Given the description of an element on the screen output the (x, y) to click on. 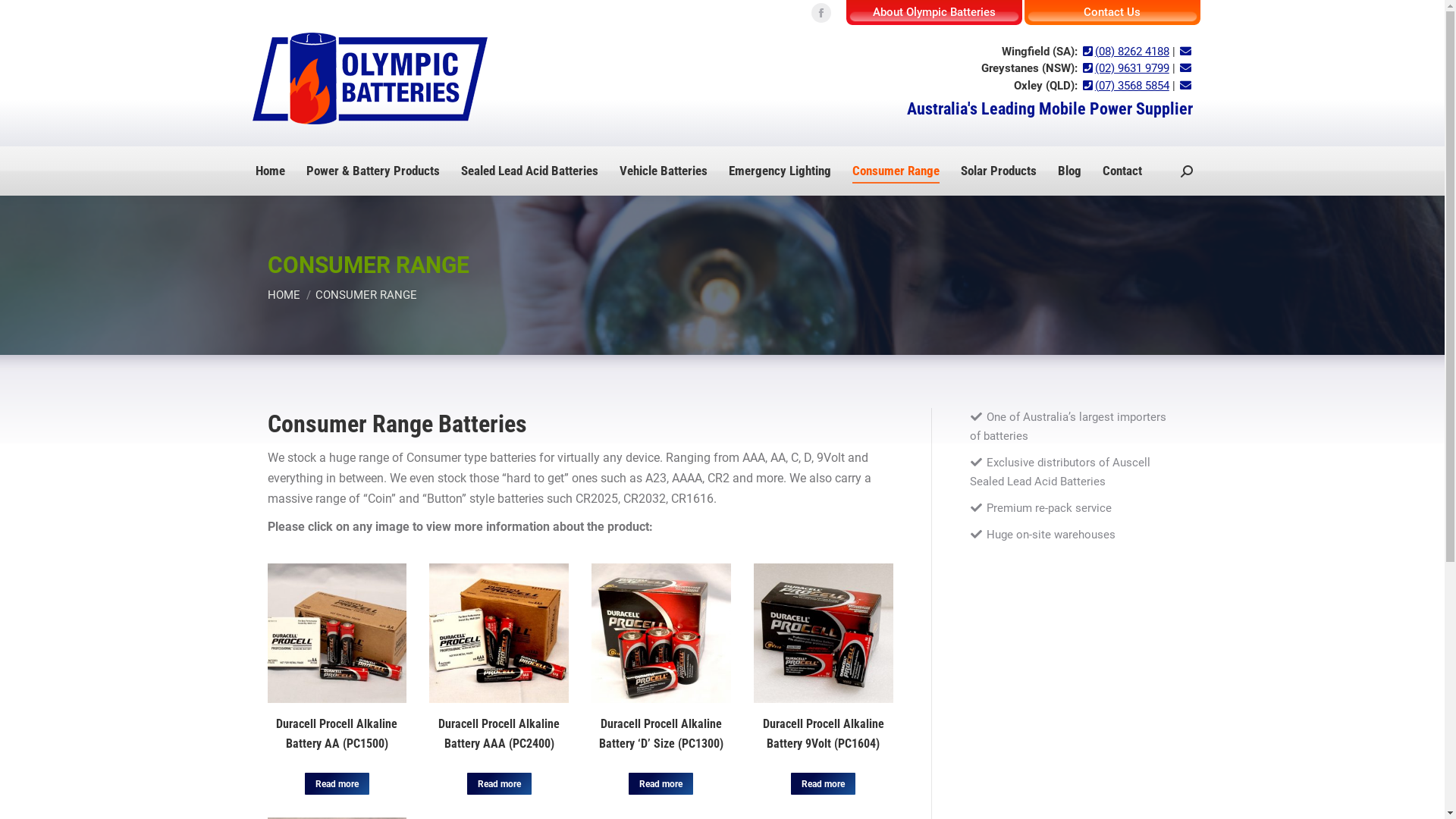
Read more Element type: text (822, 783)
About Olympic Batteries Element type: text (934, 12)
Duracell Procell Alkaline Battery 9Volt (PC1604) Element type: text (823, 733)
(07) 3568 5854 Element type: text (1124, 85)
Solar Products Element type: text (997, 171)
Contact Element type: text (1122, 171)
Power & Battery Products Element type: text (372, 171)
Blog Element type: text (1068, 171)
(08) 8262 4188 Element type: text (1124, 51)
Duracell Procell Alkaline Battery AAA (PC2400) Element type: text (498, 733)
Read more Element type: text (499, 783)
Facebook page opens in new window Element type: text (821, 12)
Read more Element type: text (660, 783)
Emergency Lighting Element type: text (778, 171)
HOME Element type: text (282, 294)
Contact Us Element type: text (1111, 12)
Home Element type: text (269, 171)
Consumer Range Element type: text (895, 171)
Go! Element type: text (23, 16)
Duracell Procell Alkaline Battery AA (PC1500) Element type: text (336, 733)
Read more Element type: text (336, 783)
Vehicle Batteries Element type: text (662, 171)
Sealed Lead Acid Batteries Element type: text (529, 171)
(02) 9631 9799 Element type: text (1124, 68)
